Given the description of an element on the screen output the (x, y) to click on. 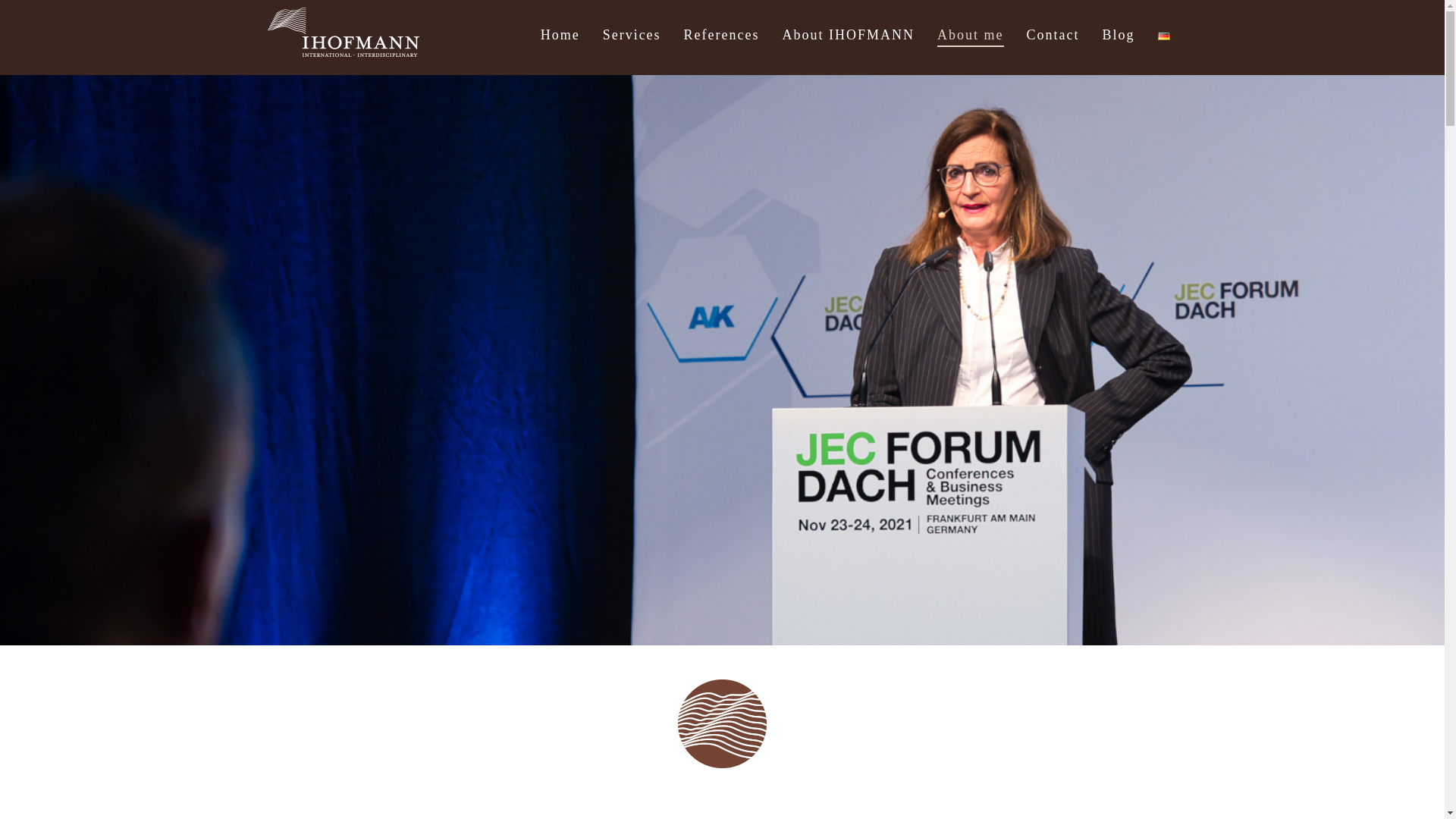
Services (636, 36)
Blog (1122, 36)
About IHOFMANN (852, 36)
Contact (1056, 36)
References (725, 36)
About me (973, 36)
Home (563, 36)
